Given the description of an element on the screen output the (x, y) to click on. 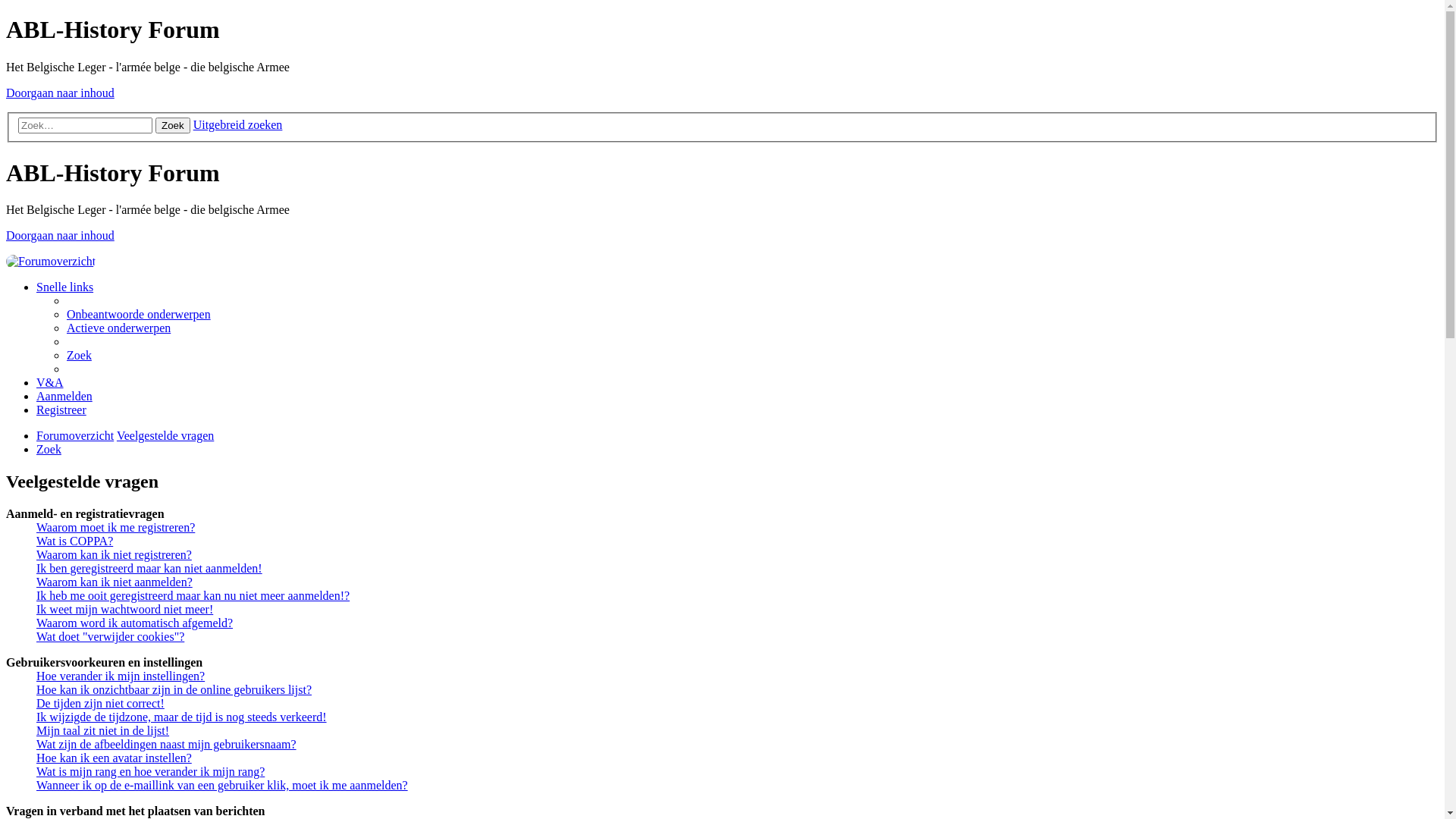
Mijn taal zit niet in de lijst! Element type: text (102, 730)
Waarom moet ik me registreren? Element type: text (115, 526)
Onbeantwoorde onderwerpen Element type: text (138, 313)
Zoek Element type: text (78, 354)
Doorgaan naar inhoud Element type: text (60, 92)
V&A Element type: text (49, 382)
De tijden zijn niet correct! Element type: text (100, 702)
Zoek Element type: text (48, 448)
Forumoverzicht Element type: text (74, 435)
Hoe kan ik onzichtbaar zijn in de online gebruikers lijst? Element type: text (173, 689)
Uitgebreid zoeken Element type: text (237, 124)
Waarom kan ik niet registreren? Element type: text (113, 554)
Snelle links Element type: text (64, 286)
Aanmelden Element type: text (64, 395)
Veelgestelde vragen Element type: text (164, 435)
Hoe verander ik mijn instellingen? Element type: text (120, 675)
Doorgaan naar inhoud Element type: text (60, 235)
Wat is mijn rang en hoe verander ik mijn rang? Element type: text (150, 771)
Zoek Element type: text (172, 125)
Ik weet mijn wachtwoord niet meer! Element type: text (124, 608)
Registreer Element type: text (61, 409)
Zoek op sleutelwoorden Element type: hover (85, 125)
Forumoverzicht Element type: hover (50, 260)
Wat doet "verwijder cookies"? Element type: text (110, 636)
Ik ben geregistreerd maar kan niet aanmelden! Element type: text (149, 567)
Actieve onderwerpen Element type: text (118, 327)
Waarom word ik automatisch afgemeld? Element type: text (134, 622)
Waarom kan ik niet aanmelden? Element type: text (114, 581)
Wat is COPPA? Element type: text (74, 540)
Hoe kan ik een avatar instellen? Element type: text (113, 757)
Wat zijn de afbeeldingen naast mijn gebruikersnaam? Element type: text (166, 743)
